Given the description of an element on the screen output the (x, y) to click on. 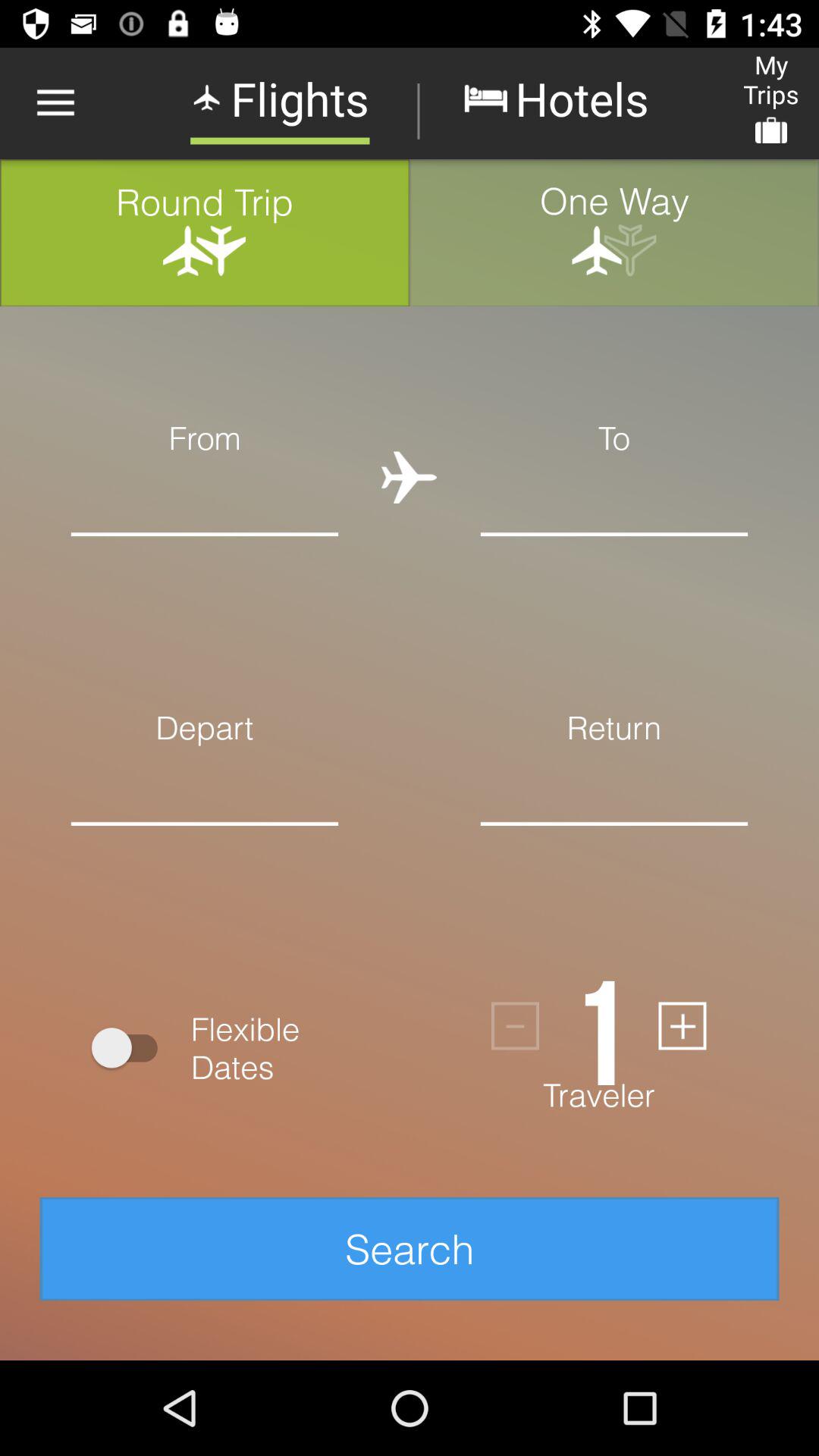
click the search (409, 1248)
